Given the description of an element on the screen output the (x, y) to click on. 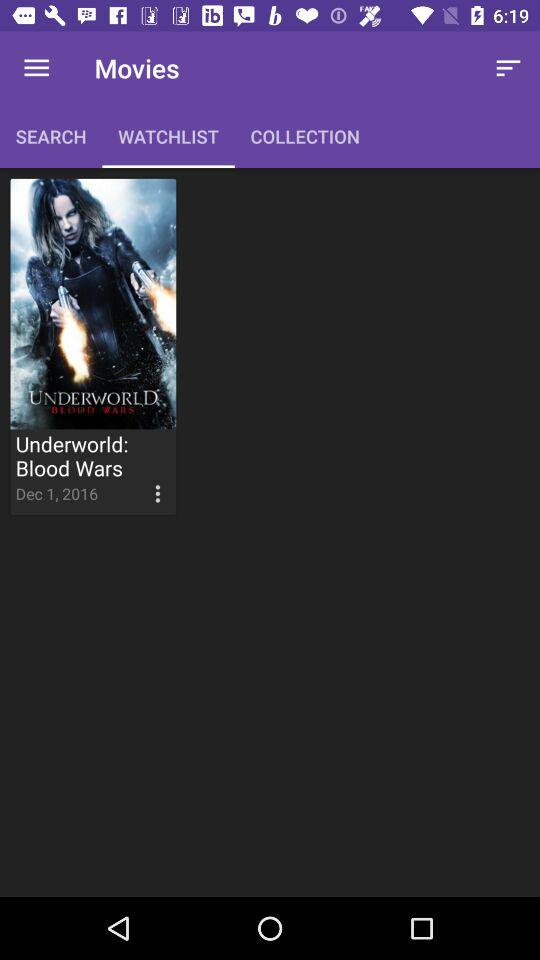
open the item above search item (36, 68)
